Given the description of an element on the screen output the (x, y) to click on. 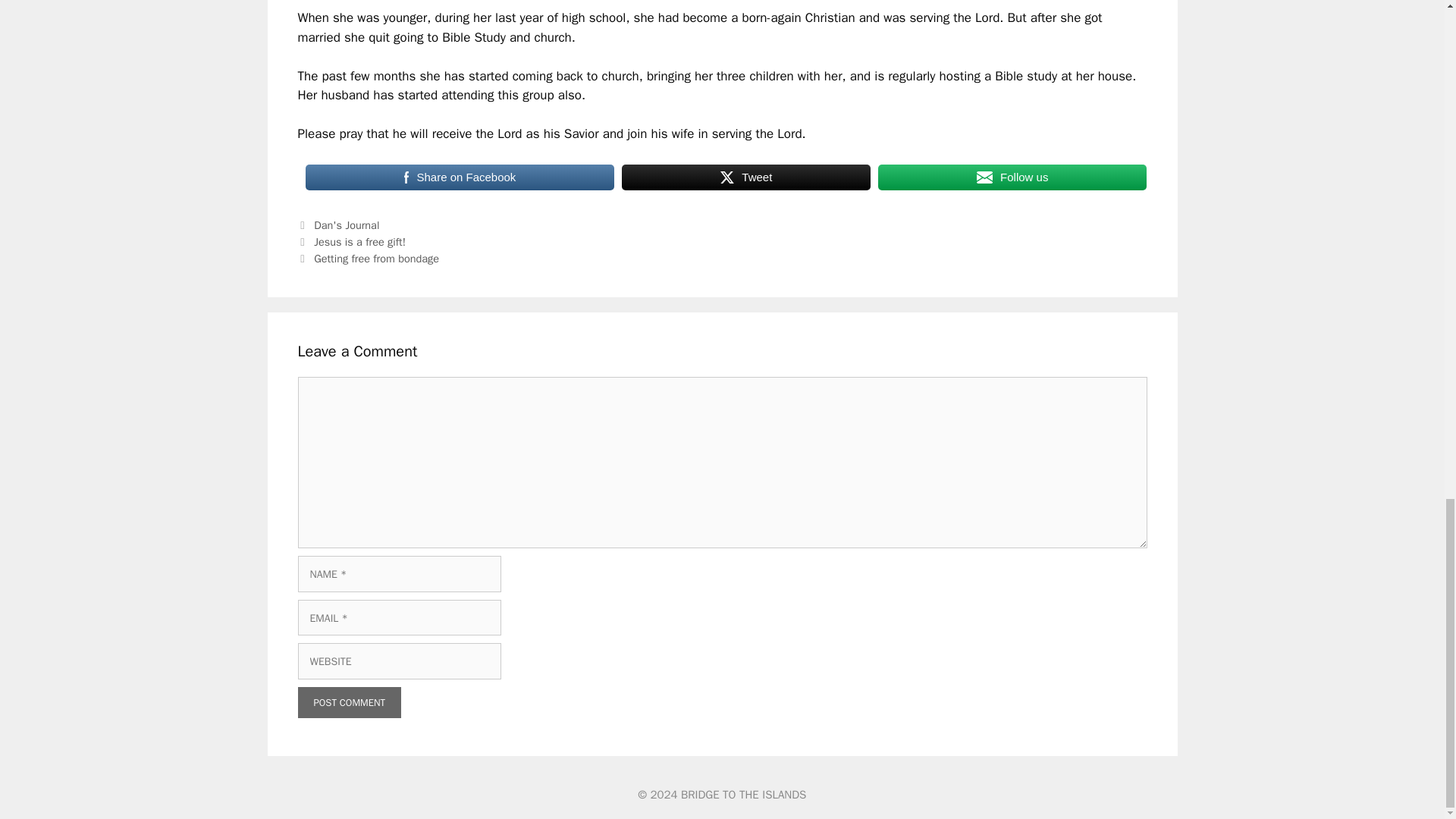
Follow us (1012, 176)
Previous (351, 241)
Share on Facebook (459, 176)
Dan's Journal (346, 224)
Jesus is a free gift! (360, 241)
Post Comment (349, 703)
Post Comment (349, 703)
Getting free from bondage (376, 258)
Tweet (745, 176)
Next (368, 258)
